Given the description of an element on the screen output the (x, y) to click on. 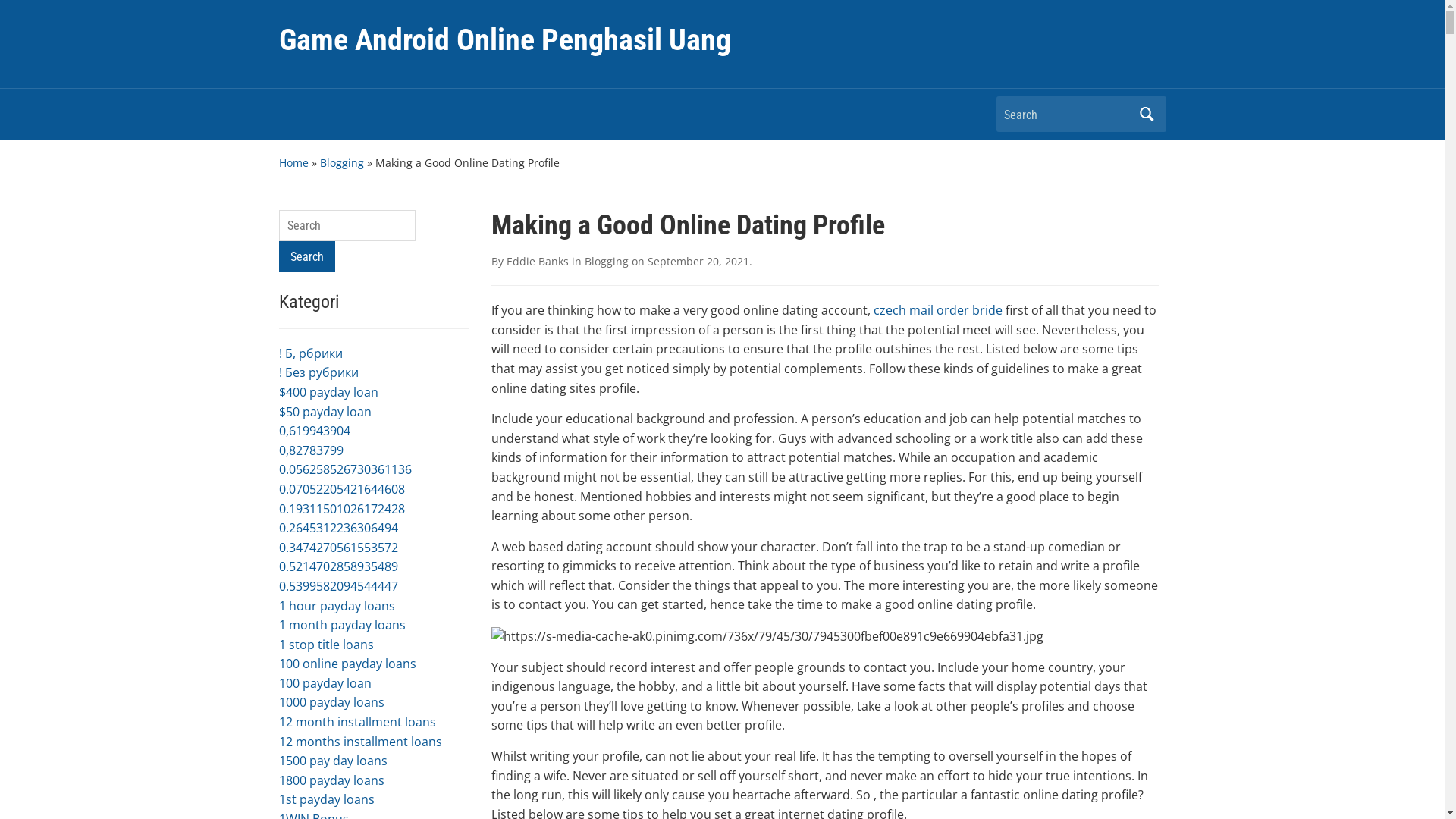
0.19311501026172428 Element type: text (341, 508)
Search Element type: text (307, 256)
September 20, 2021 Element type: text (698, 261)
0,82783799 Element type: text (311, 450)
0.3474270561553572 Element type: text (338, 547)
Home Element type: text (293, 162)
1000 payday loans Element type: text (331, 701)
1st payday loans Element type: text (326, 798)
12 months installment loans Element type: text (360, 741)
1 stop title loans Element type: text (326, 644)
12 month installment loans Element type: text (357, 721)
Blogging Element type: text (605, 261)
1800 payday loans Element type: text (331, 779)
Search Element type: text (1146, 113)
1500 pay day loans Element type: text (333, 760)
0.5399582094544447 Element type: text (338, 585)
100 payday loan Element type: text (325, 682)
Game Android Online Penghasil Uang Element type: text (505, 39)
0.07052205421644608 Element type: text (341, 488)
Blogging Element type: text (342, 162)
0.5214702858935489 Element type: text (338, 566)
Eddie Banks Element type: text (537, 261)
0.2645312236306494 Element type: text (338, 527)
0.056258526730361136 Element type: text (345, 469)
$400 payday loan Element type: text (328, 391)
100 online payday loans Element type: text (347, 663)
1 month payday loans Element type: text (342, 624)
$50 payday loan Element type: text (325, 411)
czech mail order bride Element type: text (937, 309)
0,619943904 Element type: text (314, 430)
1 hour payday loans Element type: text (337, 605)
